Given the description of an element on the screen output the (x, y) to click on. 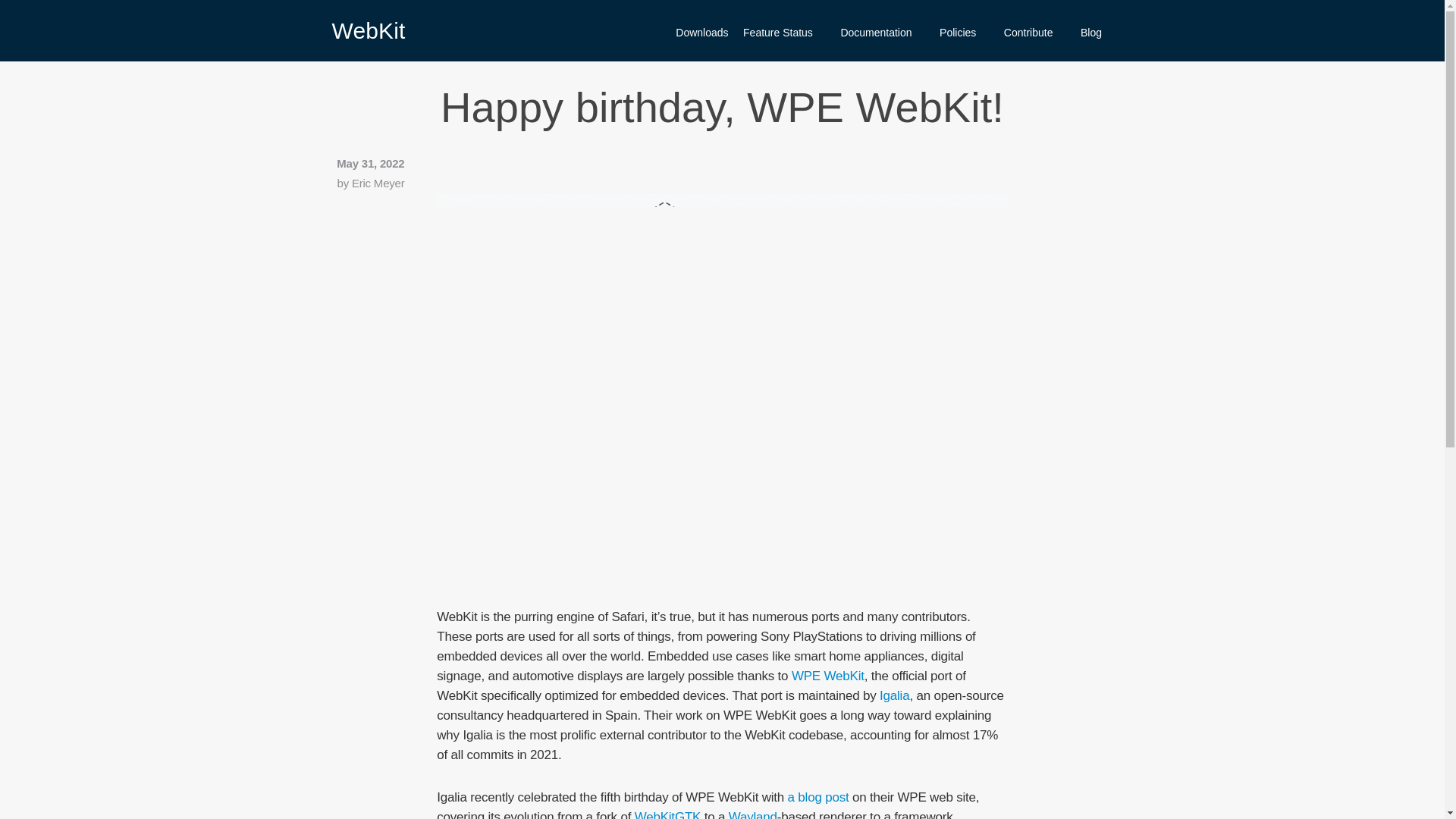
Contribute (1034, 33)
Wayland (753, 814)
WebKitGTK (667, 814)
Happy birthday, WPE WebKit! (722, 107)
Permanent Link: Happy birthday, WPE WebKit! (722, 107)
Igalia (893, 695)
Feature Status (783, 33)
WPE WebKit (828, 676)
Downloads (701, 33)
Policies (963, 33)
